Given the description of an element on the screen output the (x, y) to click on. 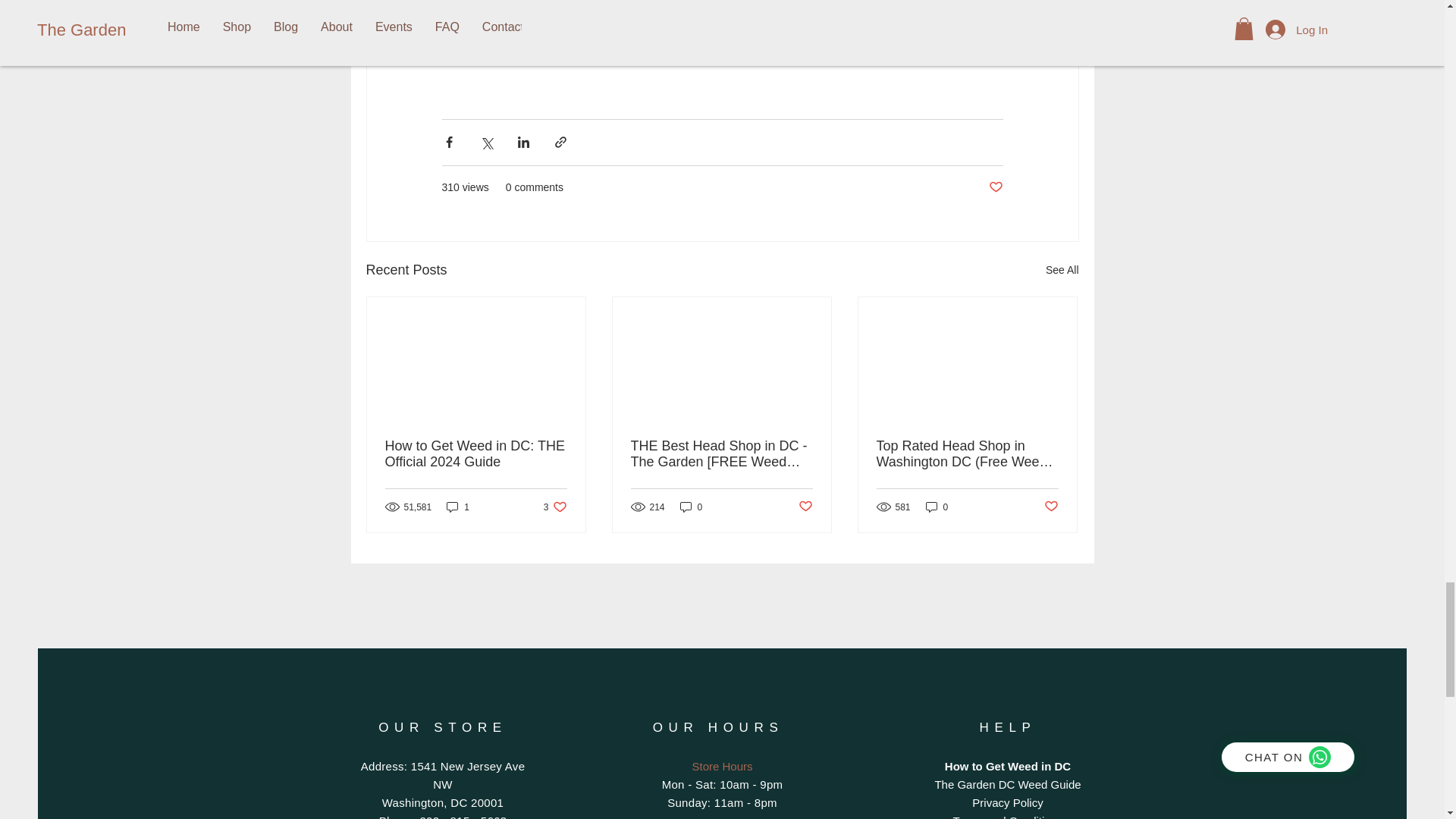
How to Get Weed in DC: THE Official 2024 Guide (476, 454)
0 (937, 506)
 The Garden DC (553, 0)
See All (1061, 270)
 Instagram (711, 31)
1 (555, 506)
Post not marked as liked (457, 506)
Post not marked as liked (804, 506)
0 (995, 187)
